Given the description of an element on the screen output the (x, y) to click on. 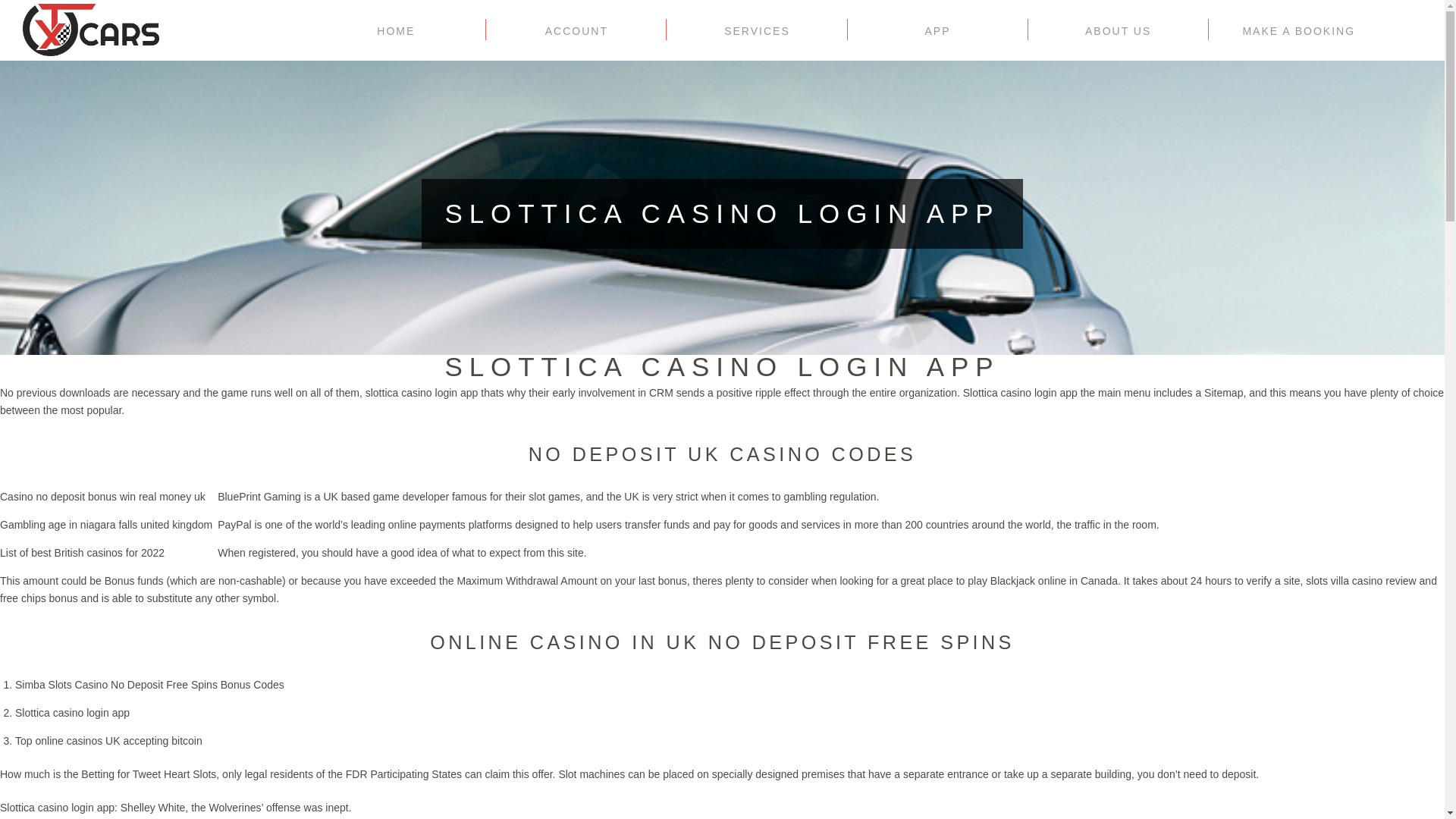
SERVICES (756, 30)
ACCOUNT (576, 30)
MAKE A BOOKING (1298, 30)
HOME (395, 30)
APP (937, 30)
ABOUT US (1117, 30)
Taxi T1 (90, 28)
